Given the description of an element on the screen output the (x, y) to click on. 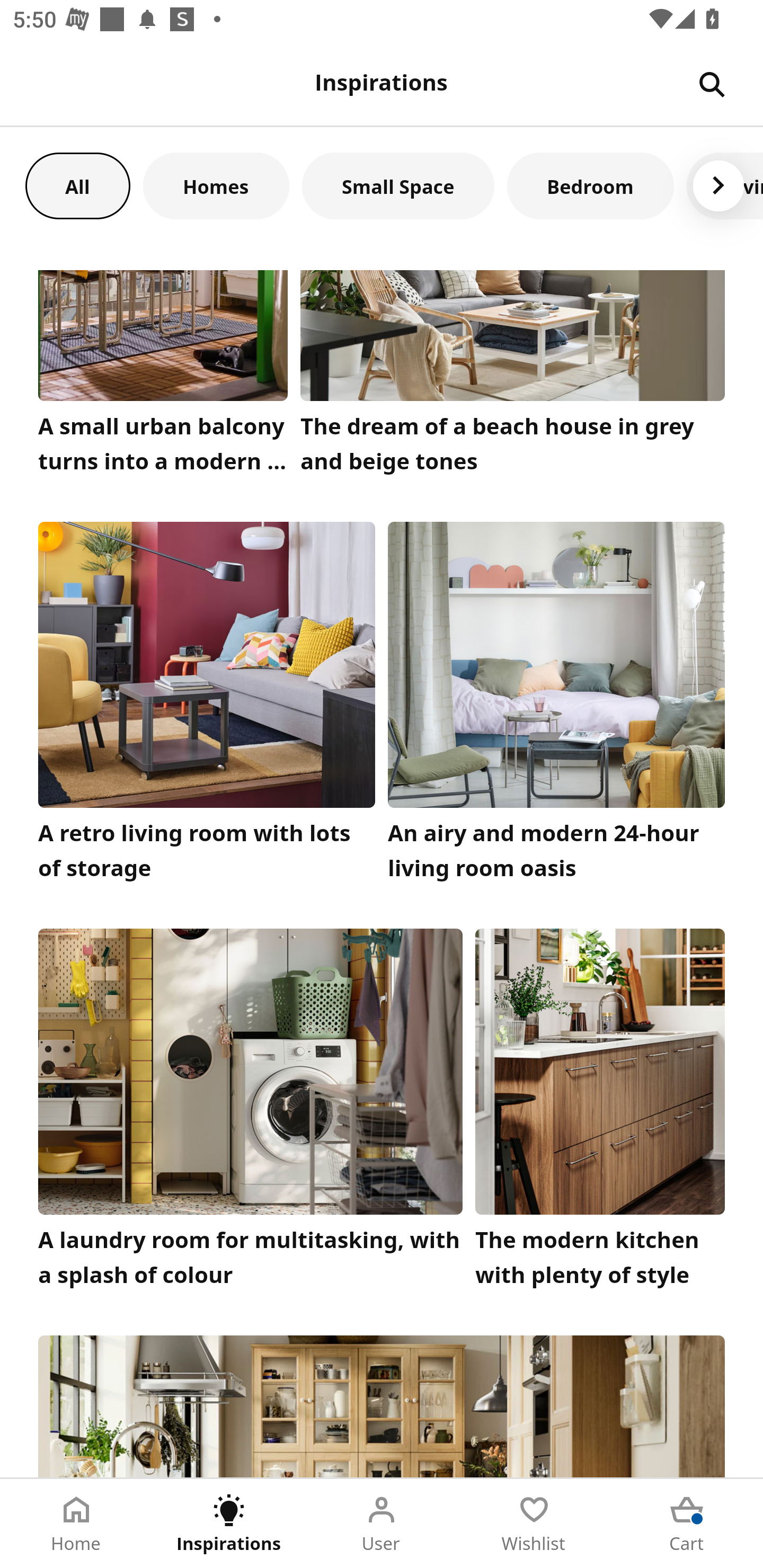
All (77, 185)
Homes (216, 185)
Small Space (398, 185)
Bedroom (590, 185)
The dream of a beach house in grey and beige tones (512, 375)
A retro living room with lots of storage (206, 706)
An airy and modern 24-hour living room oasis (555, 706)
The modern kitchen with plenty of style (599, 1112)
Home
Tab 1 of 5 (76, 1522)
Inspirations
Tab 2 of 5 (228, 1522)
User
Tab 3 of 5 (381, 1522)
Wishlist
Tab 4 of 5 (533, 1522)
Cart
Tab 5 of 5 (686, 1522)
